Given the description of an element on the screen output the (x, y) to click on. 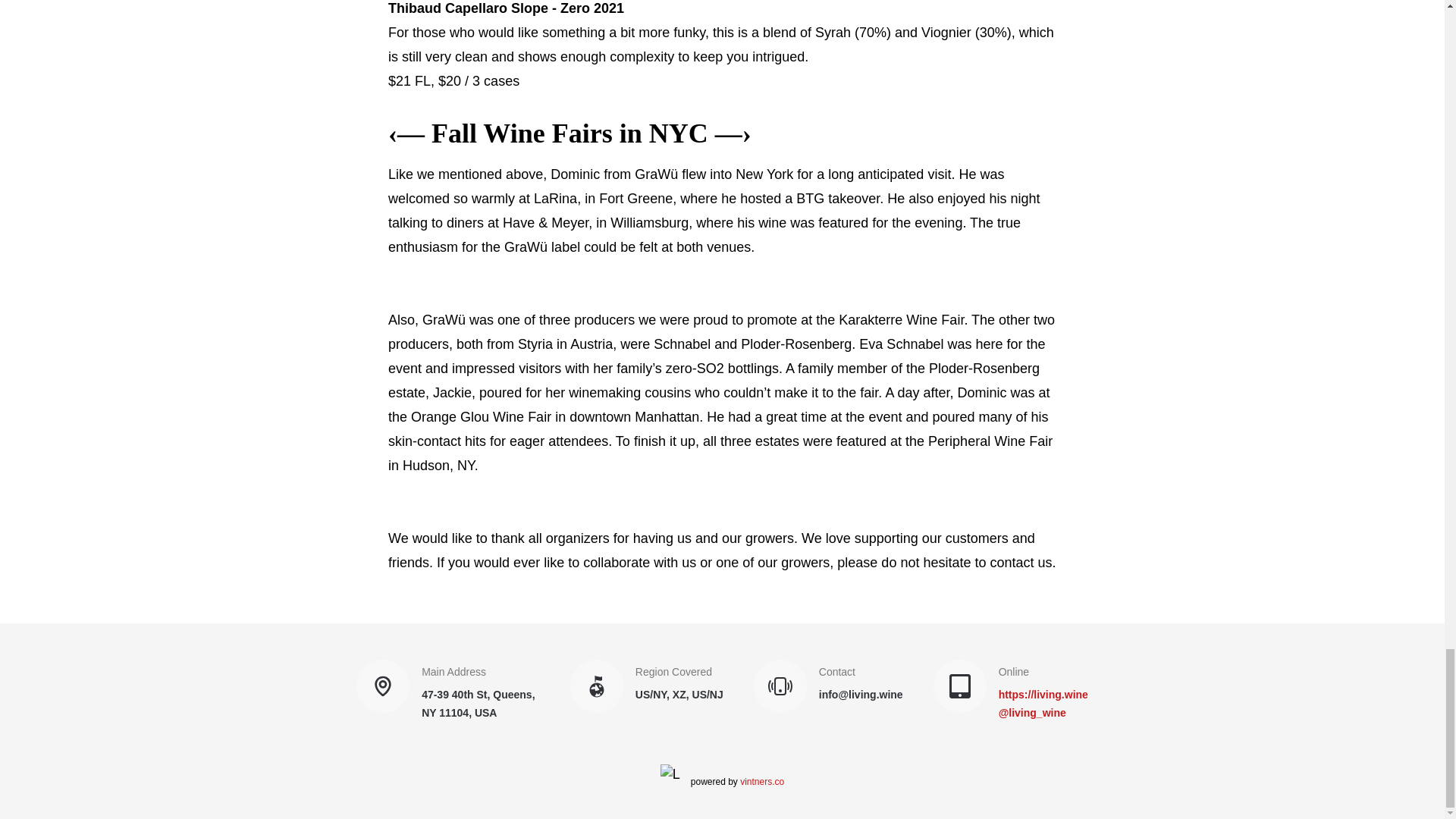
vintners.co (761, 781)
